Given the description of an element on the screen output the (x, y) to click on. 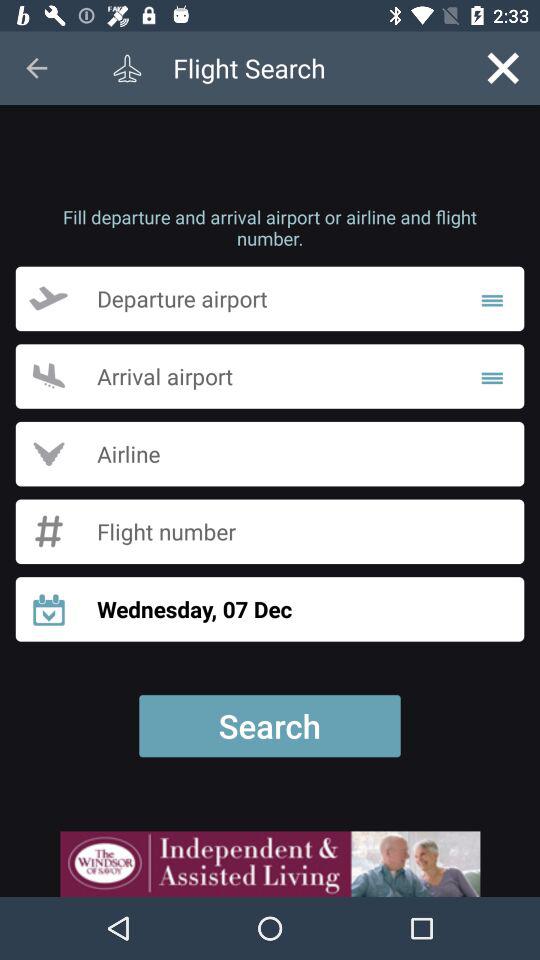
click on three horizontal lines next to arrival airport (492, 376)
select the first plane icon on the left to the text departure airport on the web page (61, 298)
select the icon which is left side of the arrival airport (48, 376)
